Given the description of an element on the screen output the (x, y) to click on. 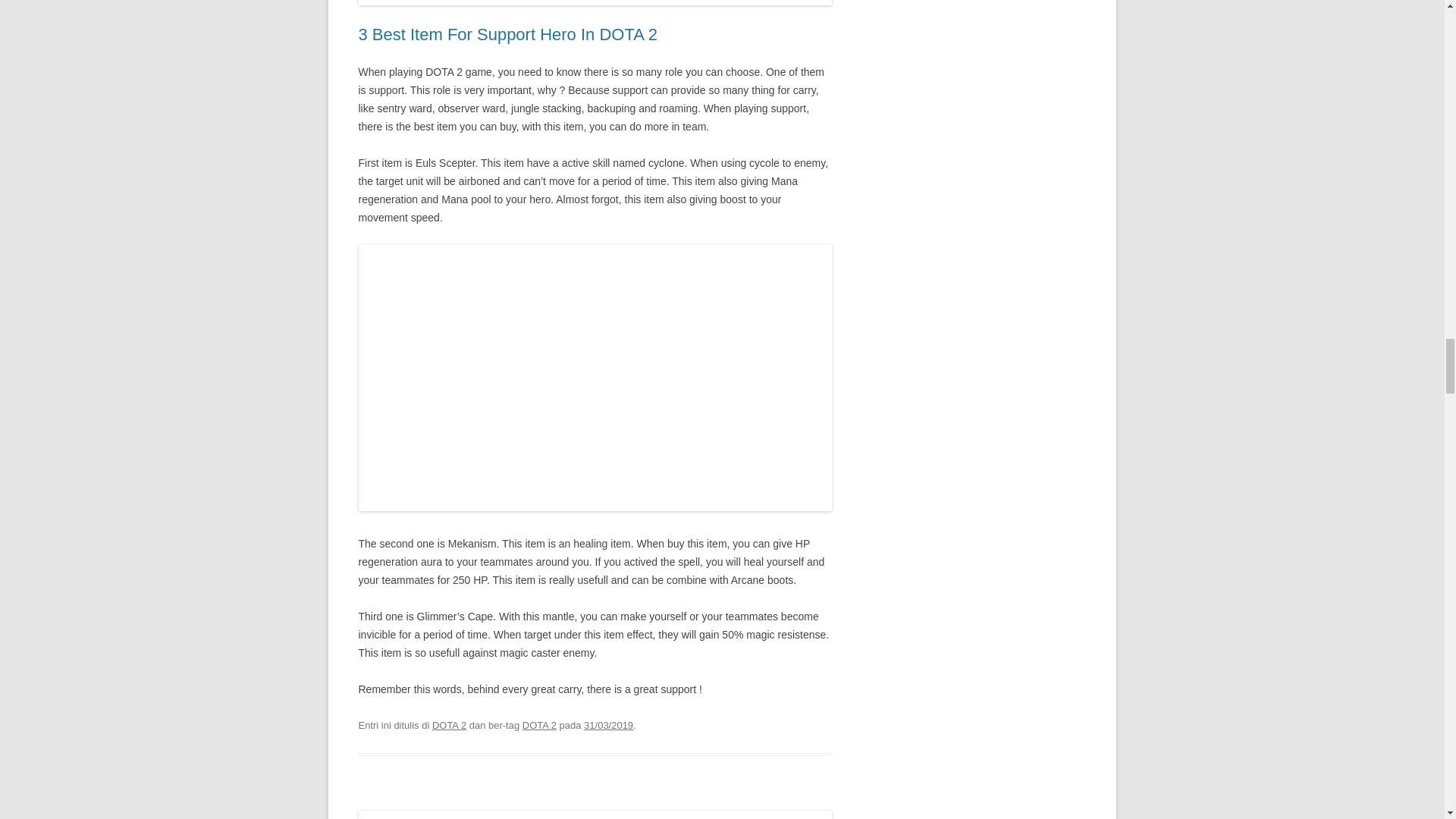
05:10 (608, 725)
3 Best Item For Support Hero In DOTA 2 (508, 34)
DOTA 2 (448, 725)
DOTA 2 (539, 725)
